Given the description of an element on the screen output the (x, y) to click on. 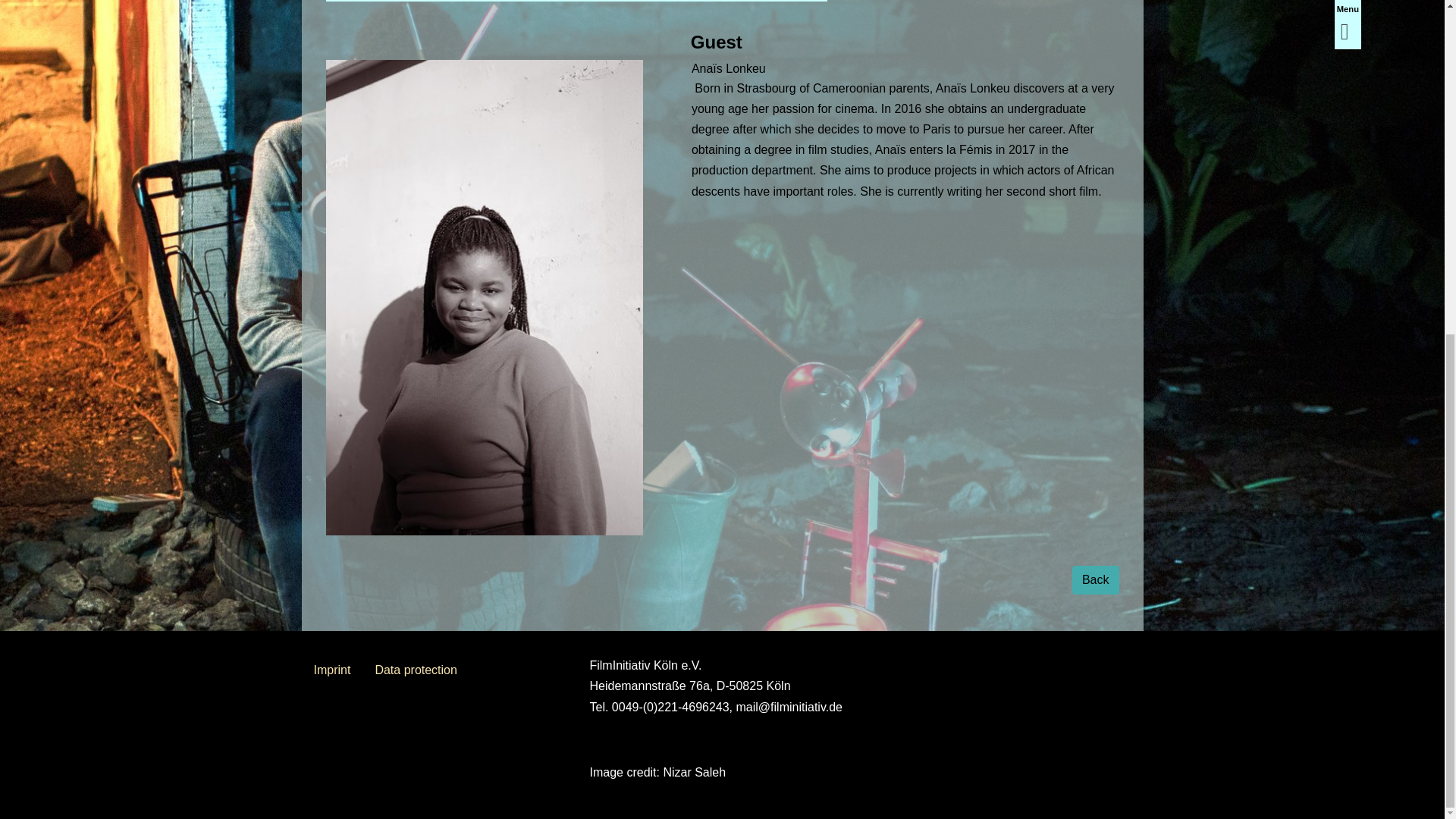
Back (1095, 579)
Imprint (331, 670)
Imprint (331, 670)
Data protection (415, 670)
Data protection (415, 670)
